Given the description of an element on the screen output the (x, y) to click on. 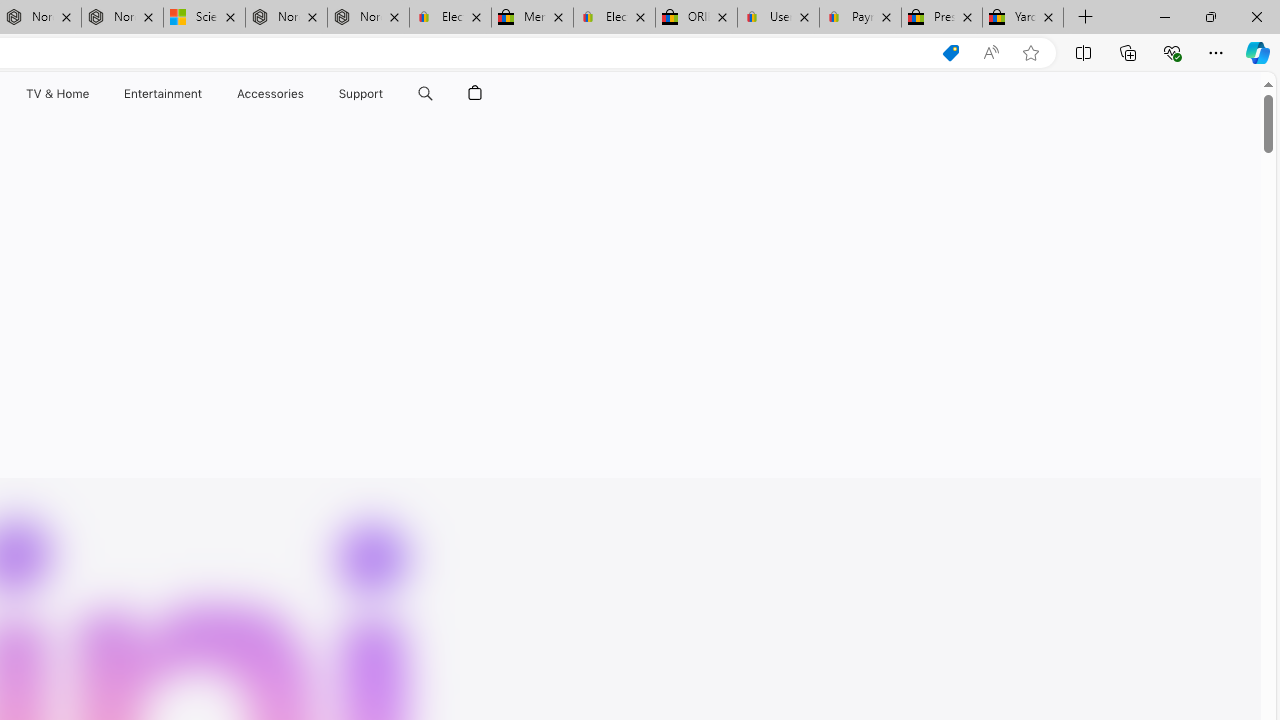
Entertainment menu (205, 93)
Class: globalnav-item globalnav-search shift-0-1 (425, 93)
TV and Home menu (92, 93)
Tech Specs (381, 141)
Buy HomePod mini (459, 142)
